Given the description of an element on the screen output the (x, y) to click on. 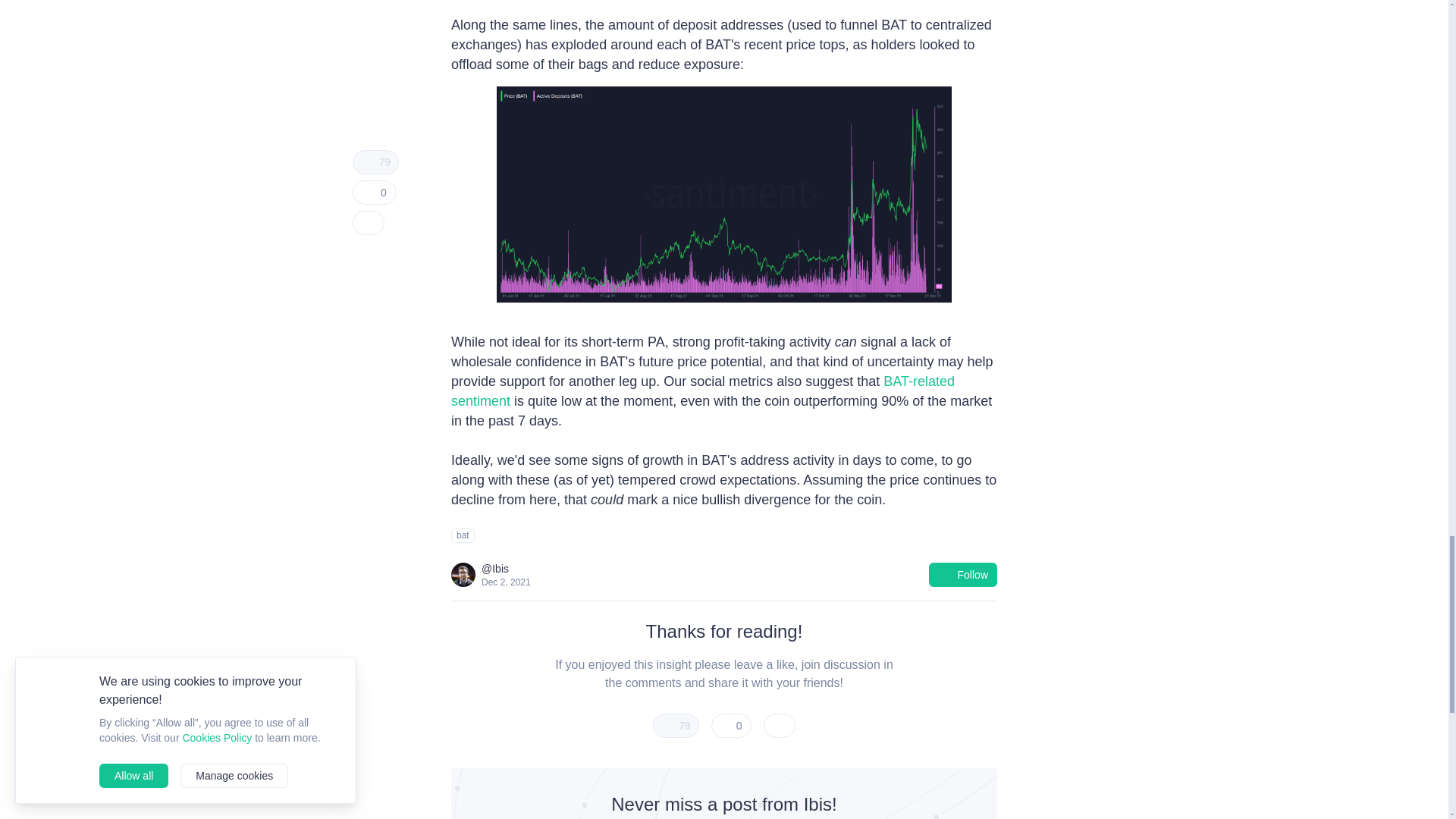
0 (731, 725)
79 (675, 725)
bat (462, 534)
Follow (962, 574)
BAT-related sentiment (703, 390)
